Given the description of an element on the screen output the (x, y) to click on. 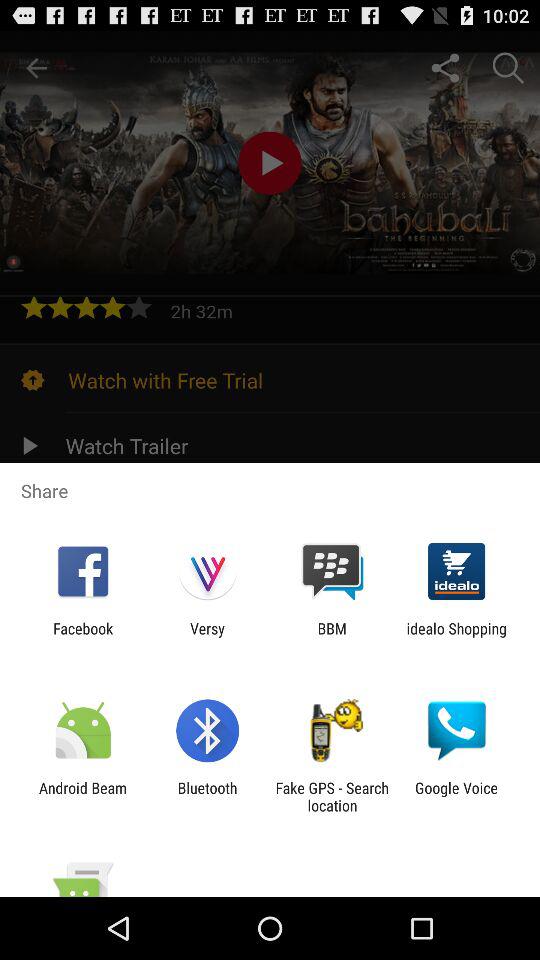
choose item to the right of the android beam item (207, 796)
